Given the description of an element on the screen output the (x, y) to click on. 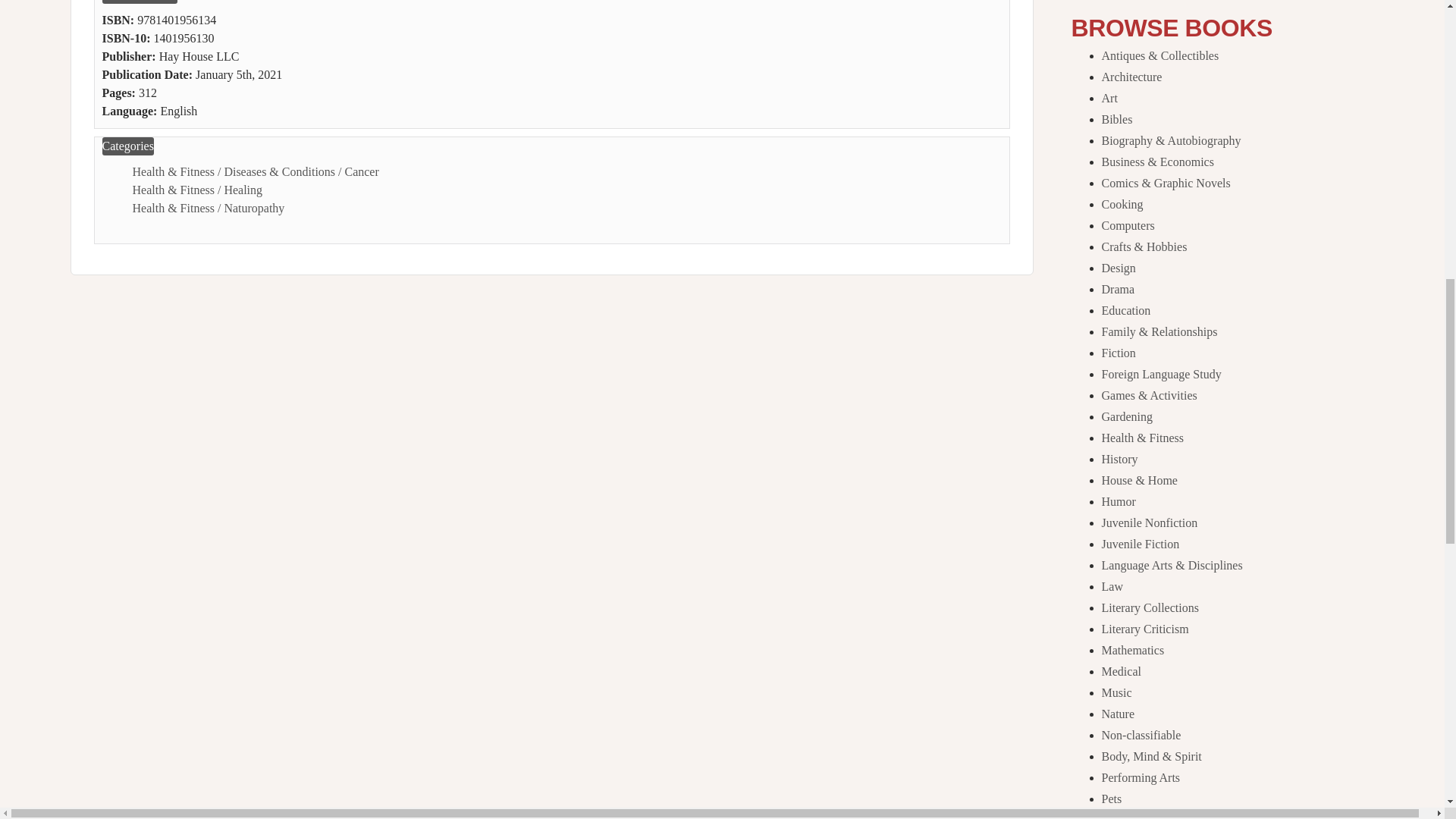
Fiction (1117, 352)
Computers (1127, 225)
Drama (1117, 288)
Education (1125, 309)
Architecture (1130, 76)
Art (1108, 97)
Design (1117, 267)
Cooking (1121, 204)
Bibles (1116, 119)
